Given the description of an element on the screen output the (x, y) to click on. 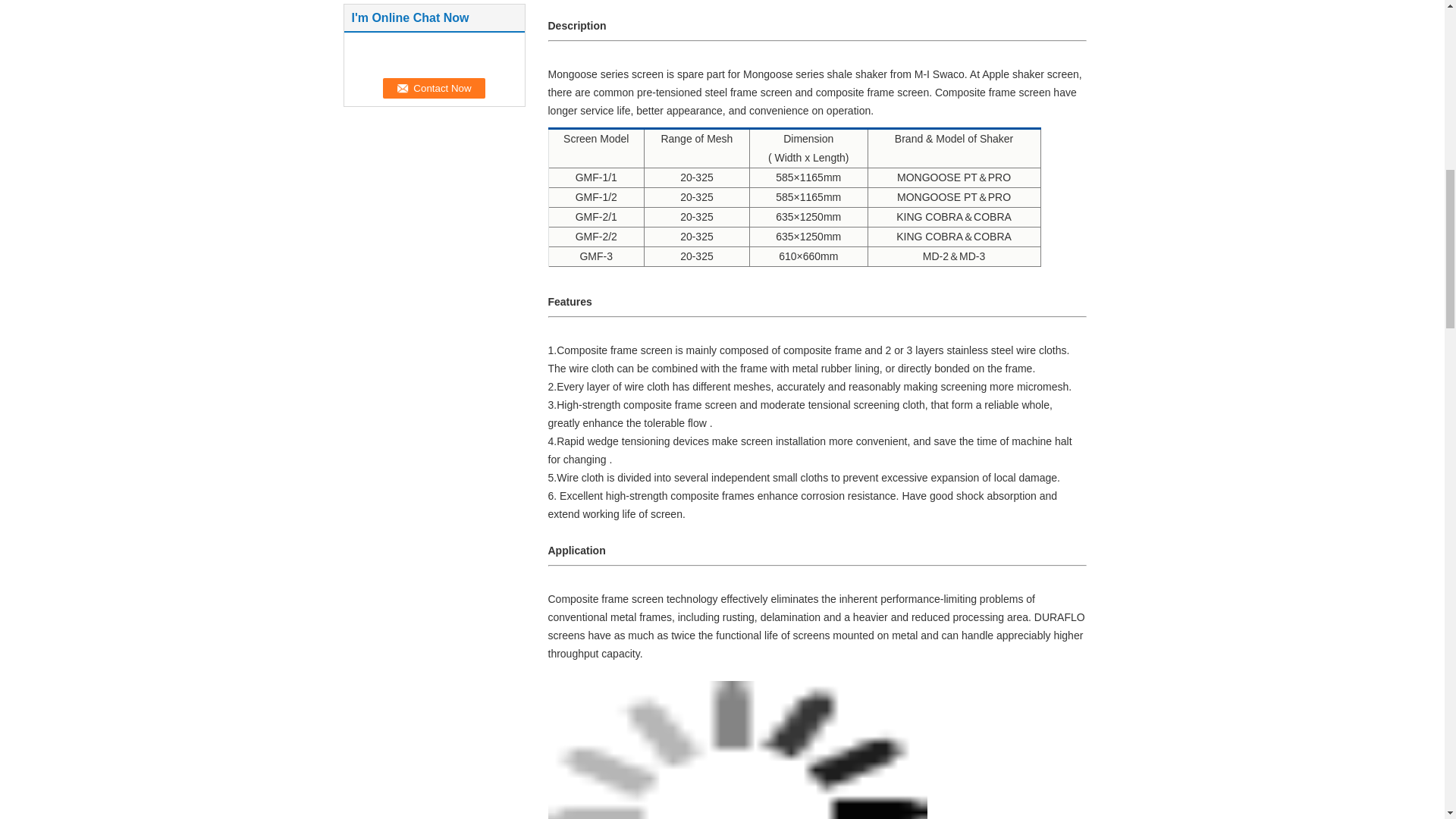
Contact Now (433, 87)
